Given the description of an element on the screen output the (x, y) to click on. 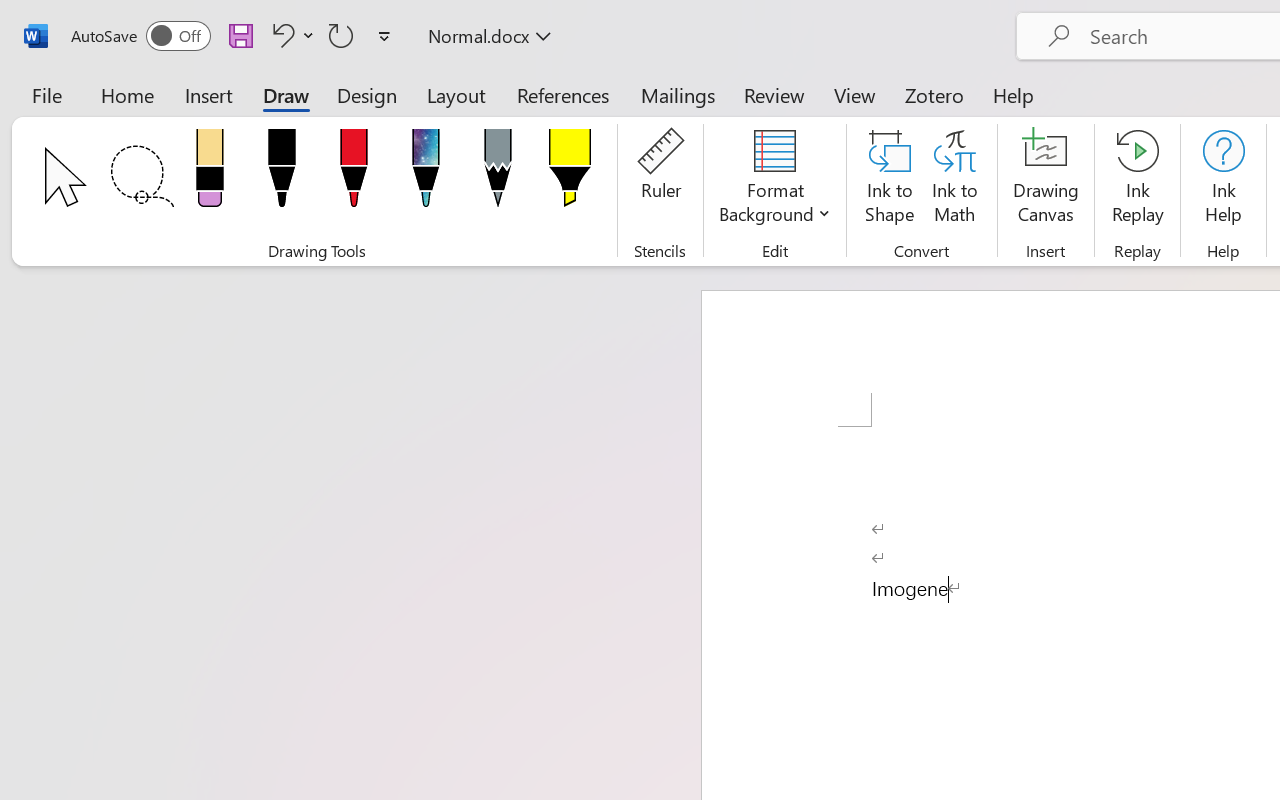
Highlighter: Yellow, 6 mm (569, 173)
Help (1013, 94)
Repeat Paragraph Formatting (341, 35)
Pen: Black, 0.5 mm (281, 173)
Ruler (660, 179)
